Given the description of an element on the screen output the (x, y) to click on. 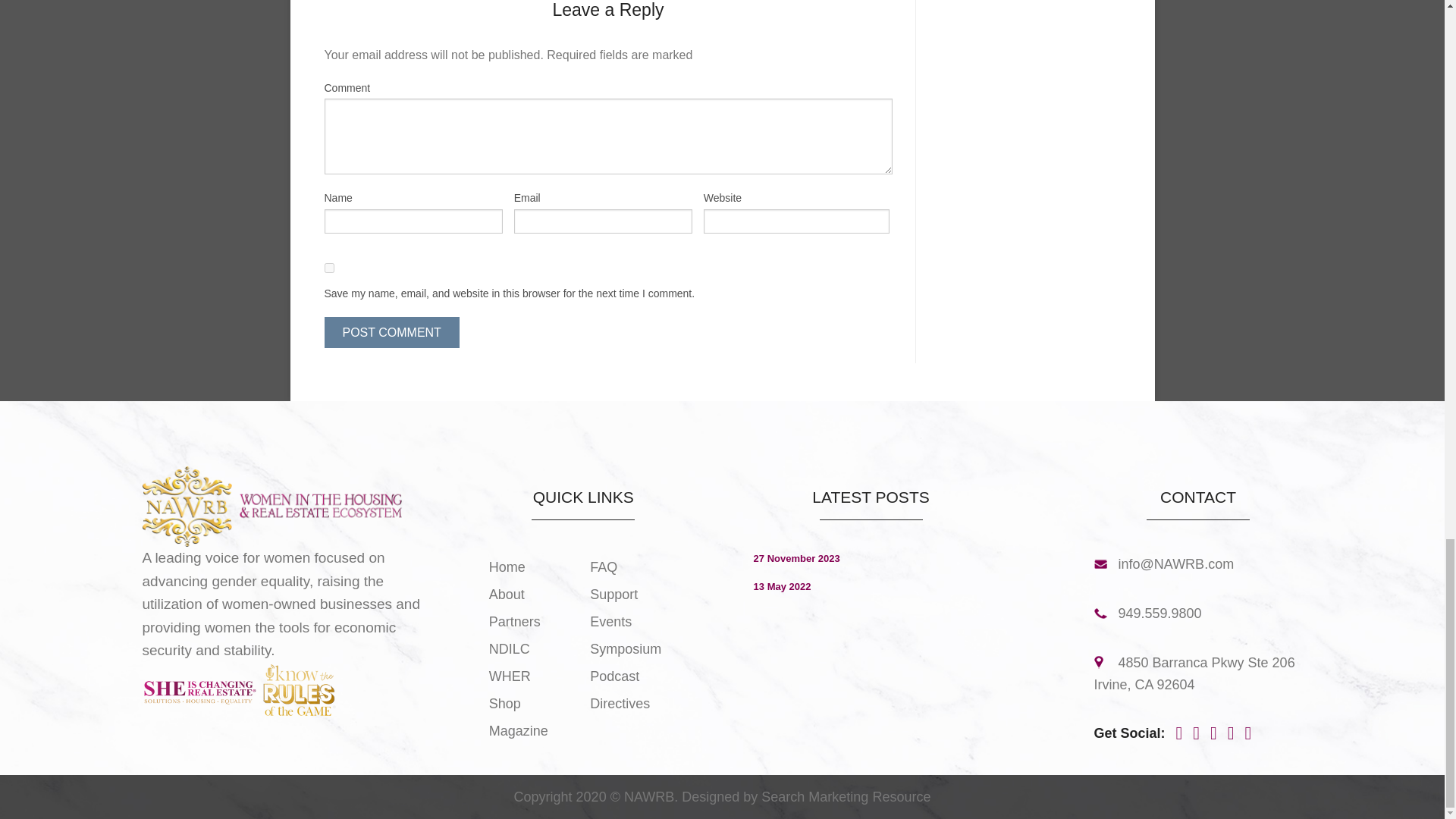
Post Comment (392, 332)
yes (329, 267)
